Given the description of an element on the screen output the (x, y) to click on. 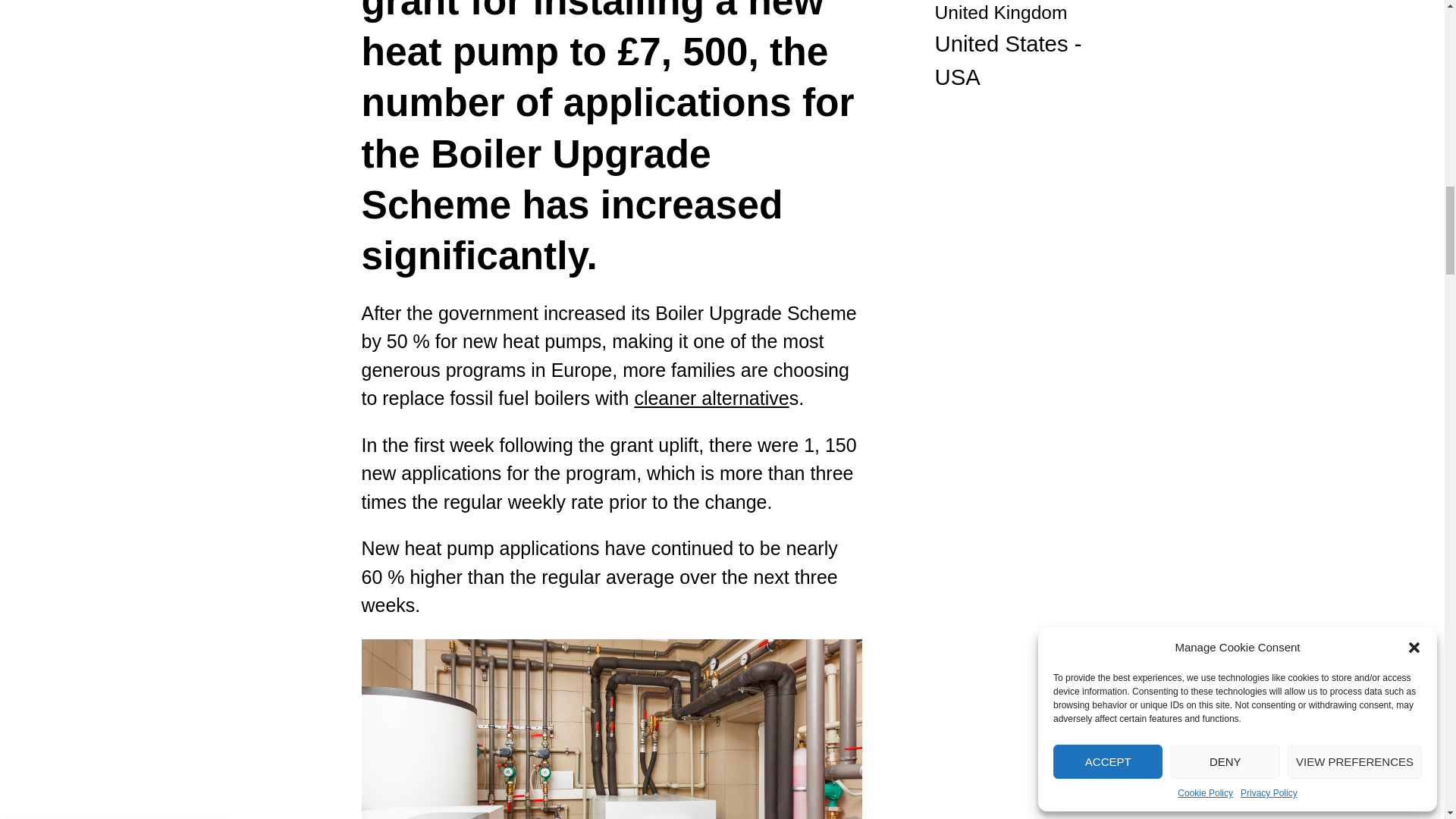
cleaner alternative (711, 397)
